Given the description of an element on the screen output the (x, y) to click on. 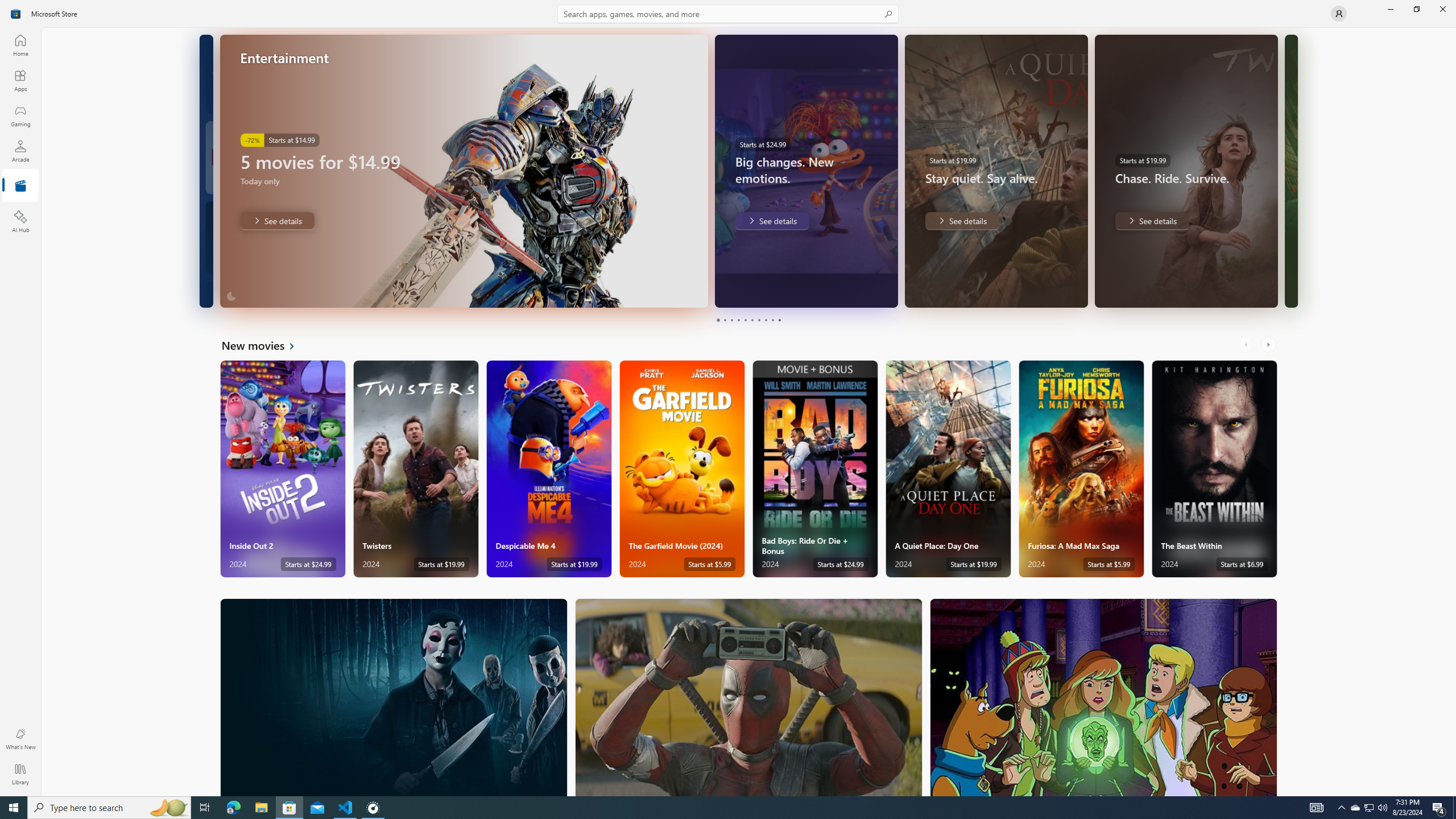
AutomationID: LeftScrollButton (1246, 344)
What's New (20, 738)
AutomationID: Image (1290, 170)
Bad Boys: Ride Or Die + Bonus. Starts at $24.99   (814, 469)
User profile (1338, 13)
See all  New movies (264, 345)
Entertainment (20, 185)
Page 7 (758, 319)
AI Hub (20, 221)
Page 1 (717, 319)
Page 9 (772, 319)
Close Microsoft Store (1442, 9)
Class: Image (15, 13)
